Given the description of an element on the screen output the (x, y) to click on. 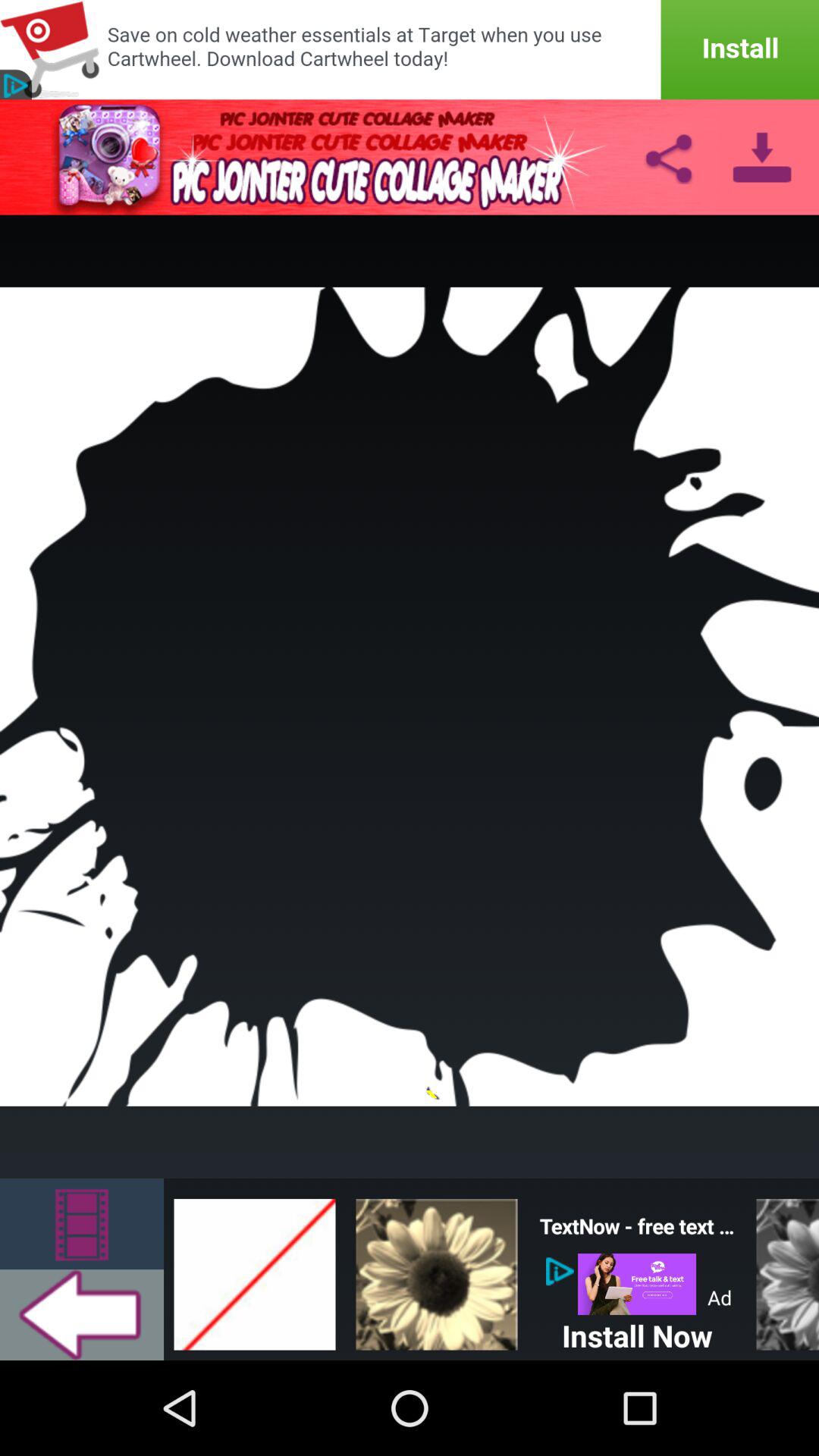
turn off icon above install now icon (636, 1283)
